Given the description of an element on the screen output the (x, y) to click on. 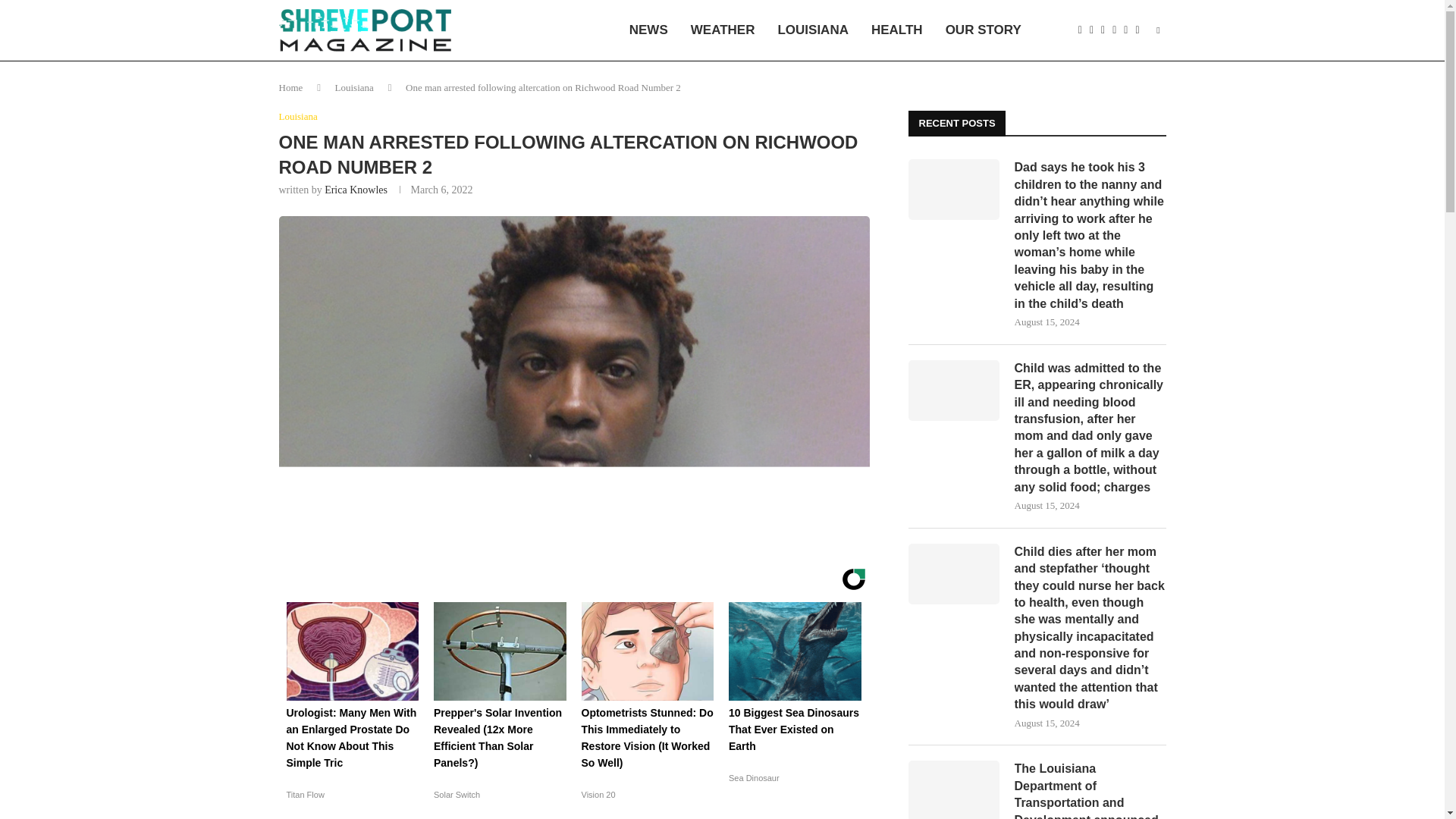
WEATHER (723, 30)
Louisiana (354, 87)
OUR STORY (983, 30)
HEALTH (897, 30)
Home (290, 87)
Erica Knowles (355, 189)
NEWS (648, 30)
Louisiana (298, 116)
LOUISIANA (812, 30)
